Given the description of an element on the screen output the (x, y) to click on. 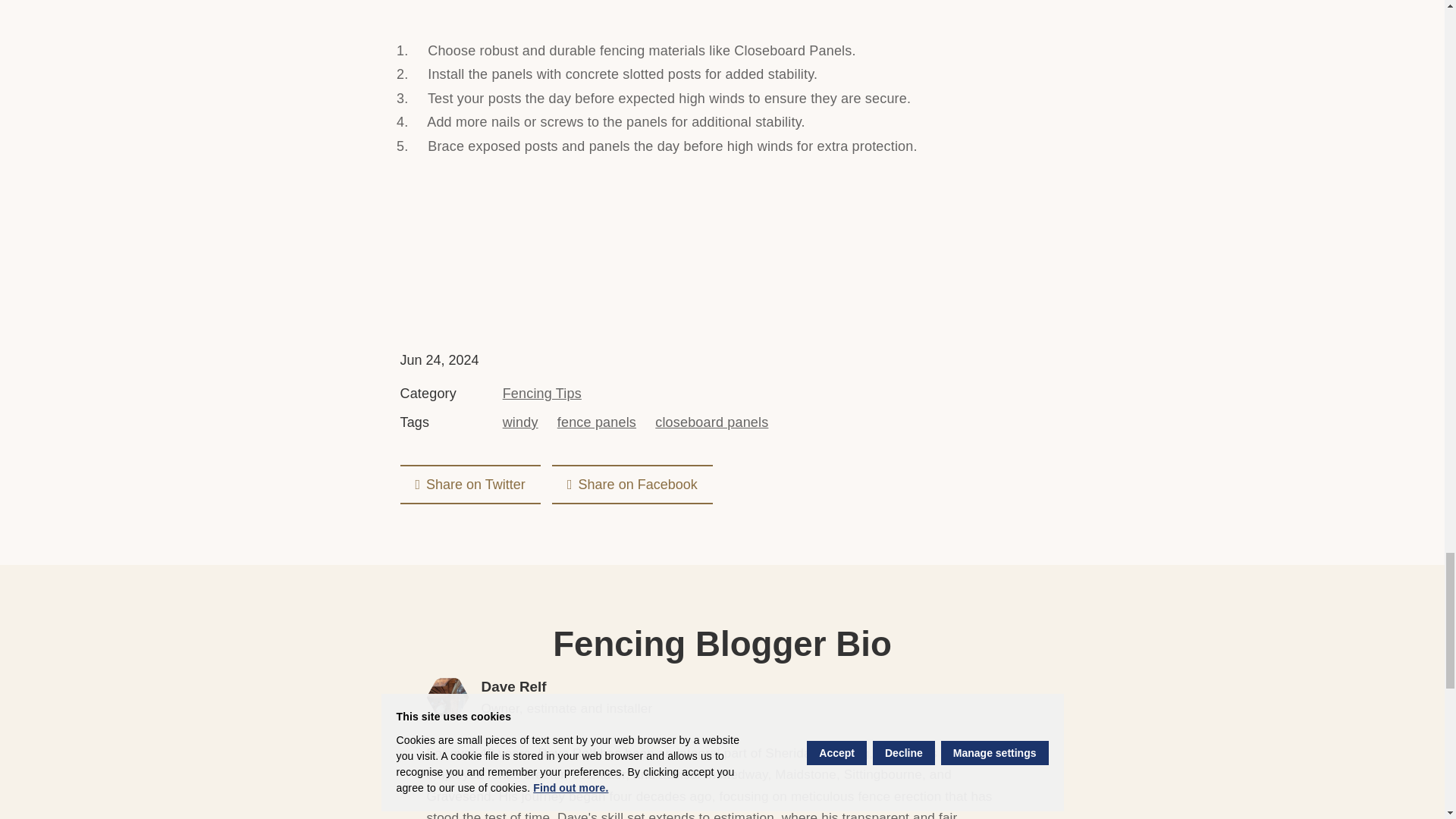
fence panels (596, 421)
Fencing Tips (541, 394)
closeboard panels (711, 421)
Share on Twitter (470, 484)
windy (520, 421)
Share on Facebook (632, 484)
